Given the description of an element on the screen output the (x, y) to click on. 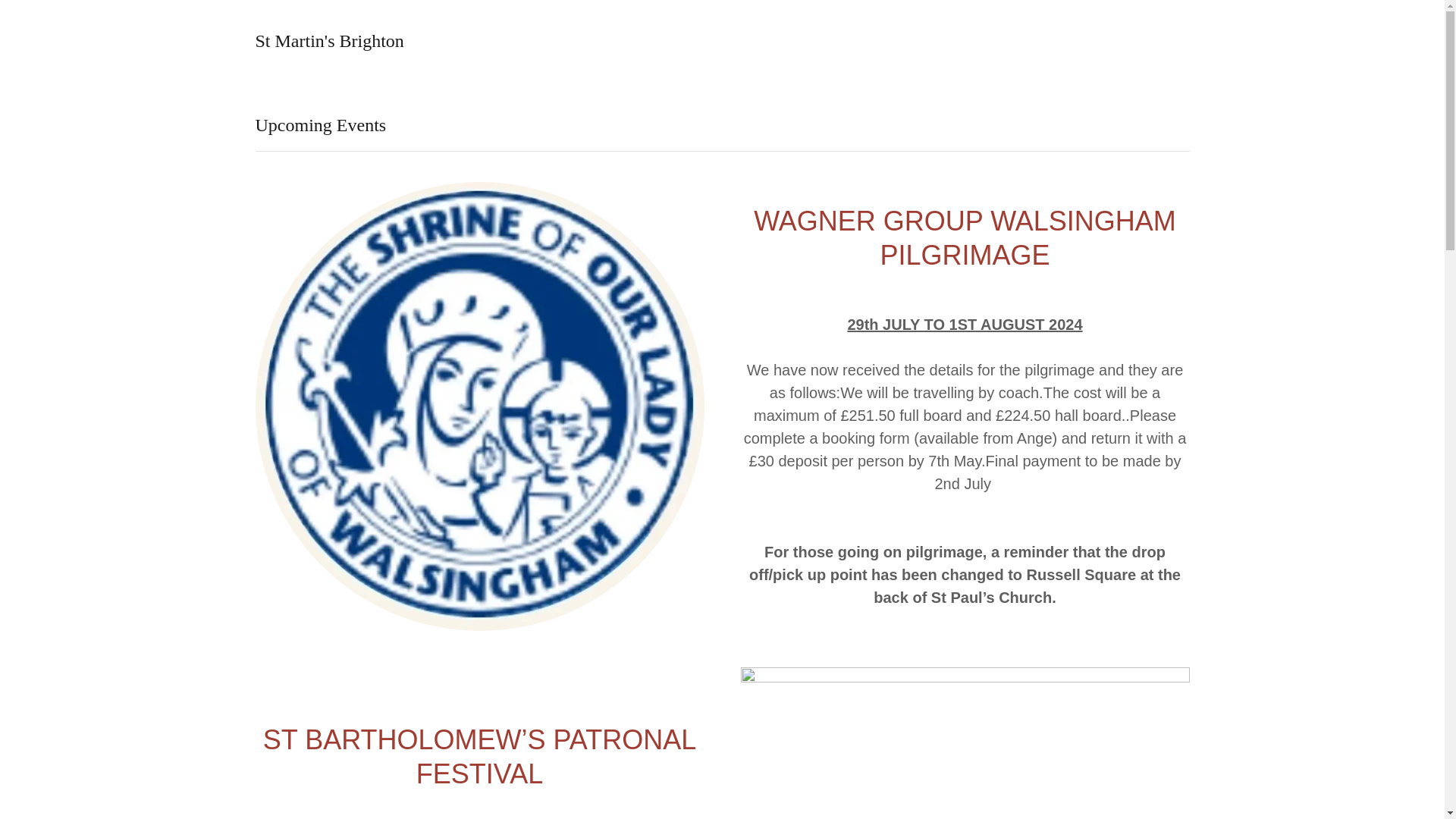
St Martin's Brighton  (328, 42)
St Martin's Brighton (328, 42)
